Given the description of an element on the screen output the (x, y) to click on. 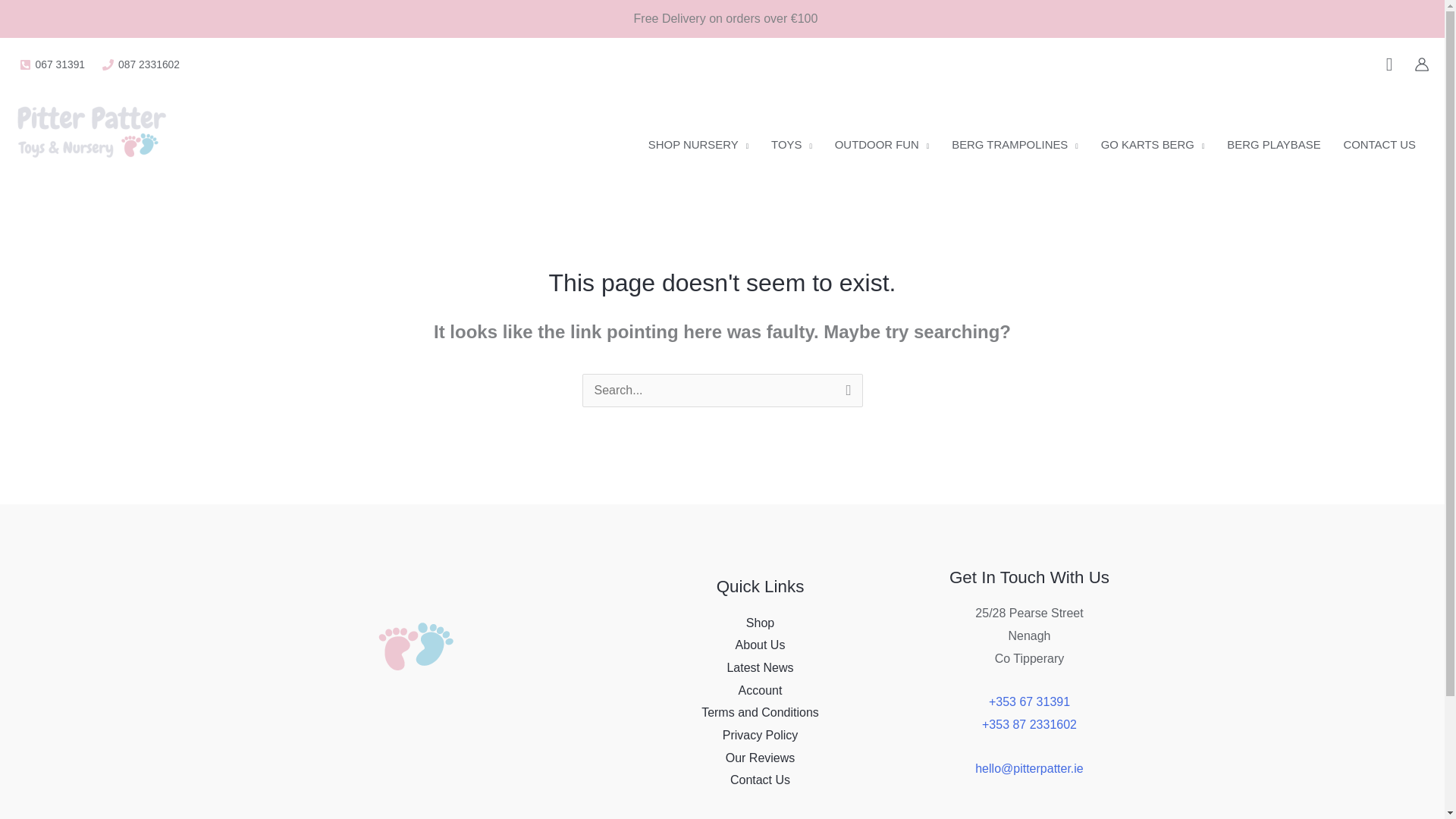
Outdoor Fun (882, 144)
087 2331602 (141, 64)
Wooden Toys (792, 144)
067 31391 (51, 64)
SHOP NURSERY (698, 144)
Search (844, 392)
Search (844, 392)
